Given the description of an element on the screen output the (x, y) to click on. 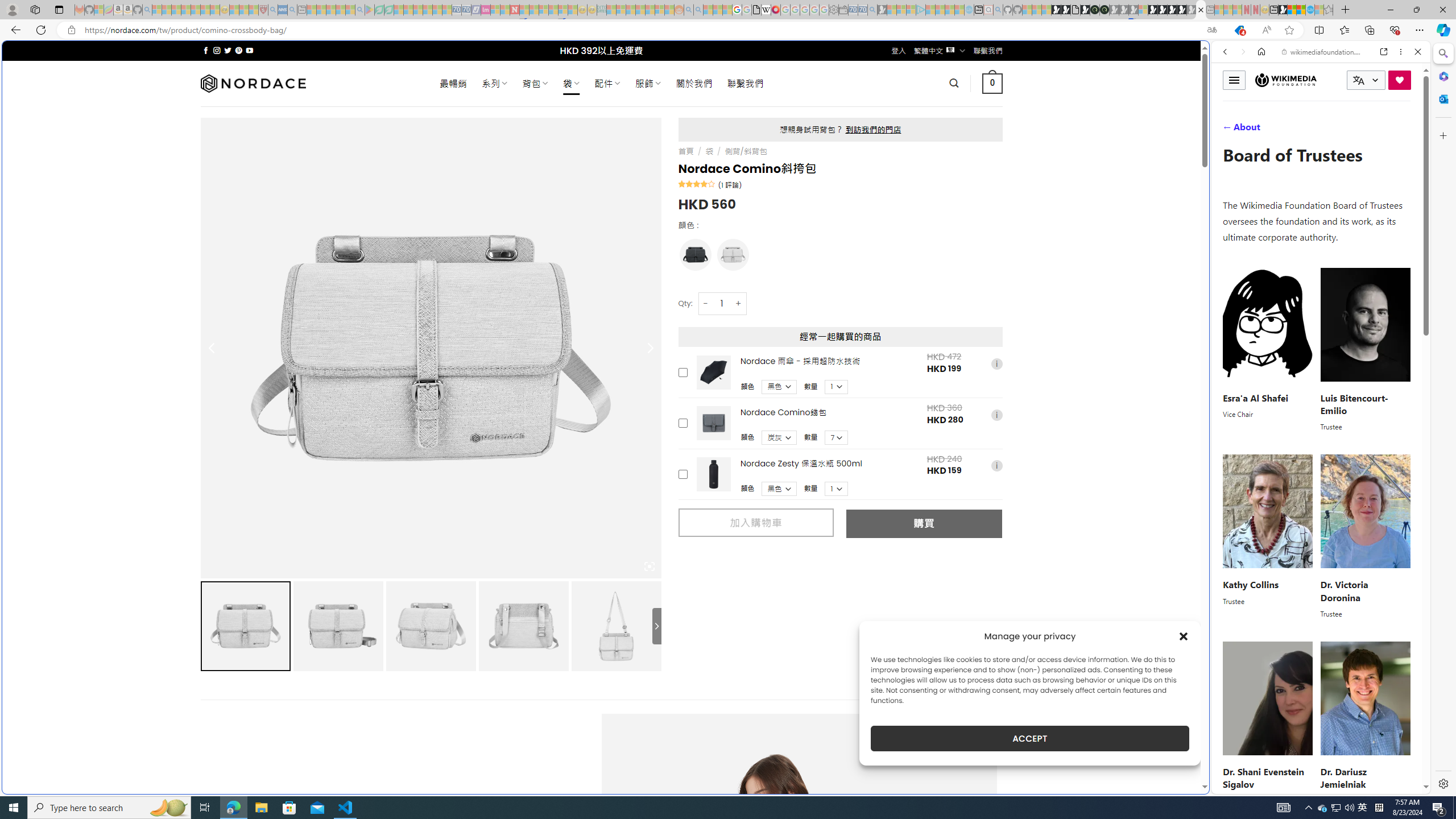
Follow on Instagram (216, 50)
+ (738, 303)
Kathy Collins (1250, 584)
